Given the description of an element on the screen output the (x, y) to click on. 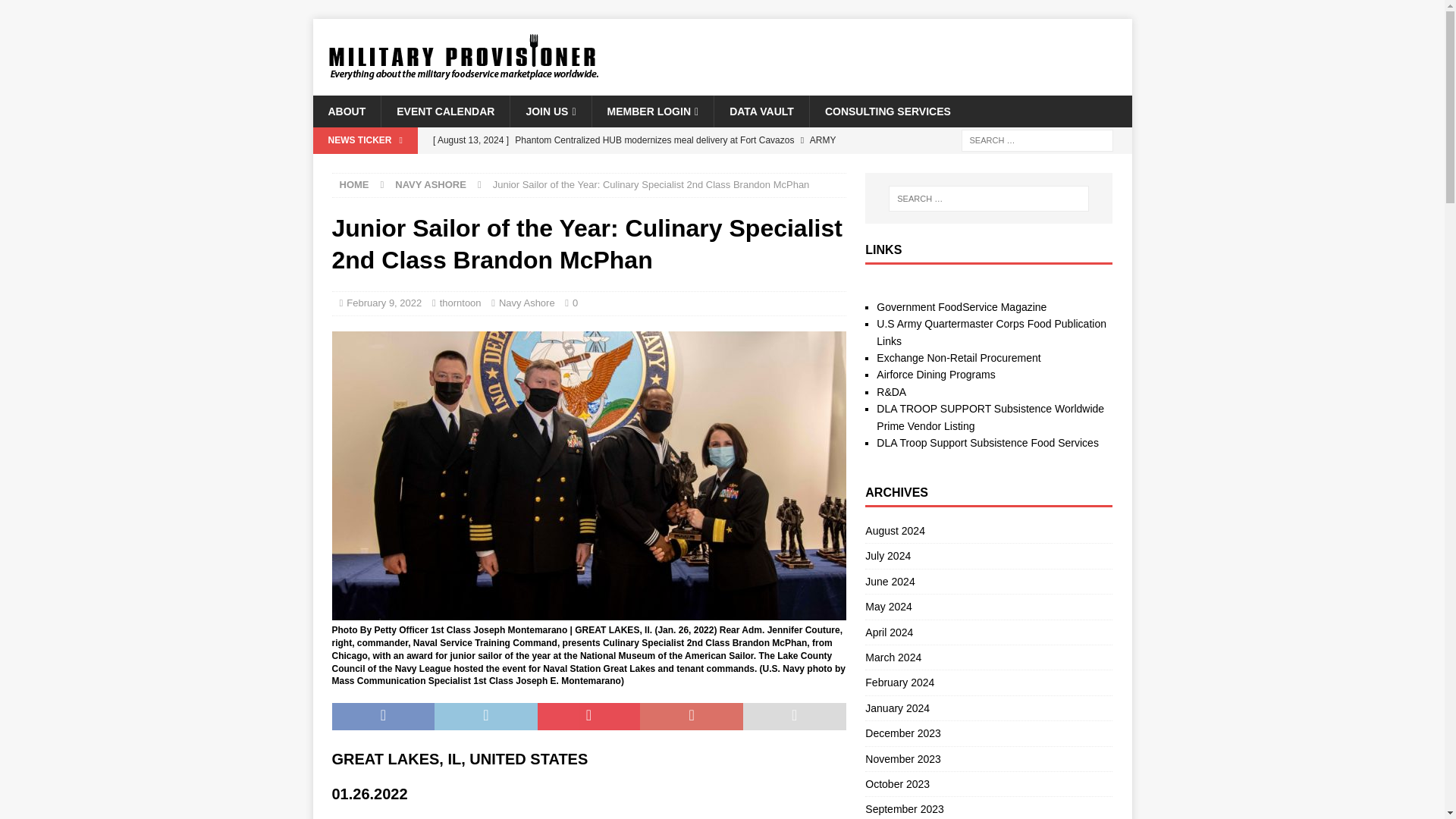
Search (56, 11)
February 9, 2022 (384, 302)
thorntoon (460, 302)
MEMBER LOGIN (652, 111)
Navy Ashore (526, 302)
NAVY ASHORE (429, 184)
JOIN US (550, 111)
HOME (354, 184)
EVENT CALENDAR (444, 111)
